Given the description of an element on the screen output the (x, y) to click on. 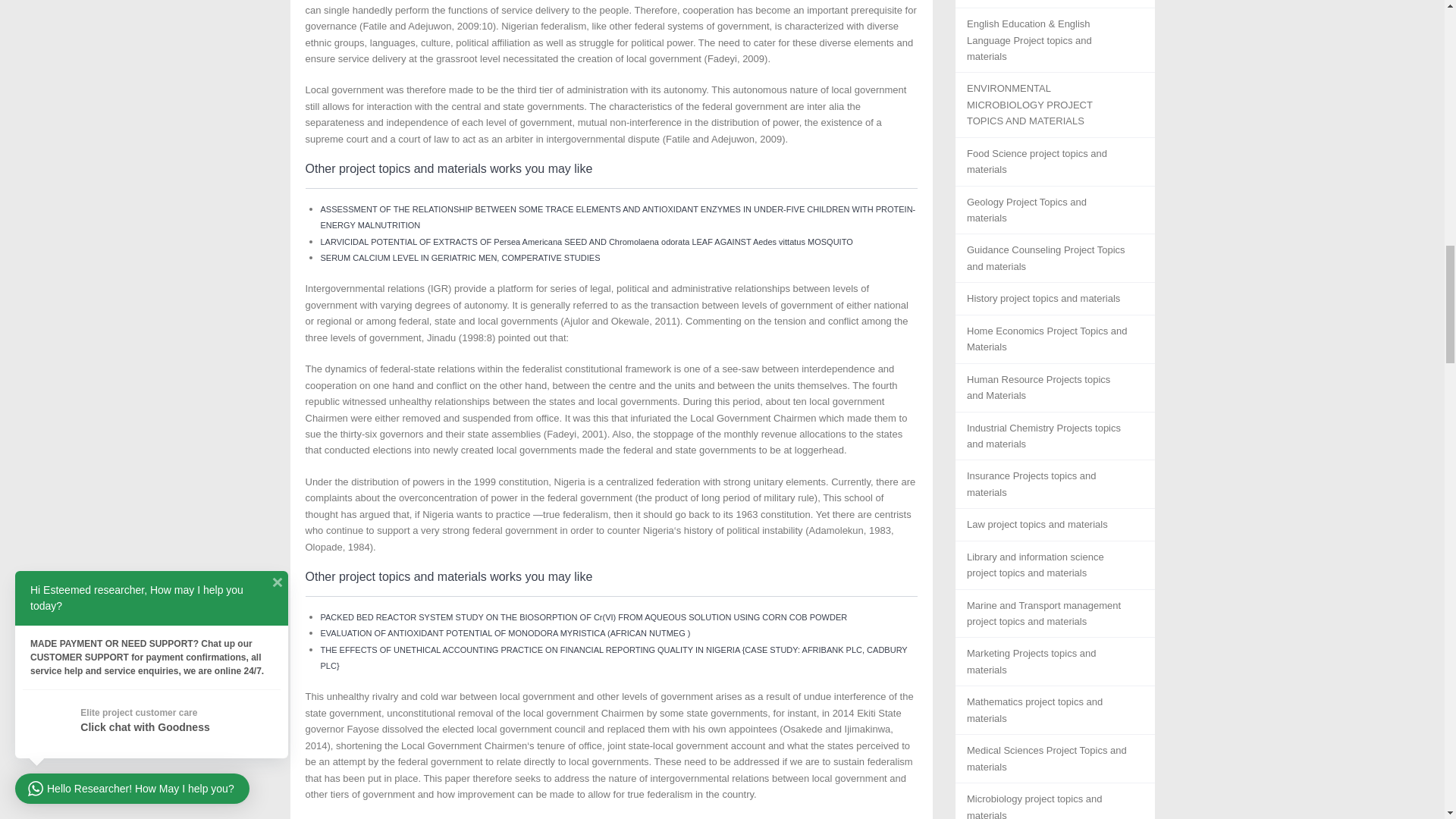
SERUM CALCIUM LEVEL IN GERIATRIC MEN, COMPERATIVE STUDIES (459, 257)
